Given the description of an element on the screen output the (x, y) to click on. 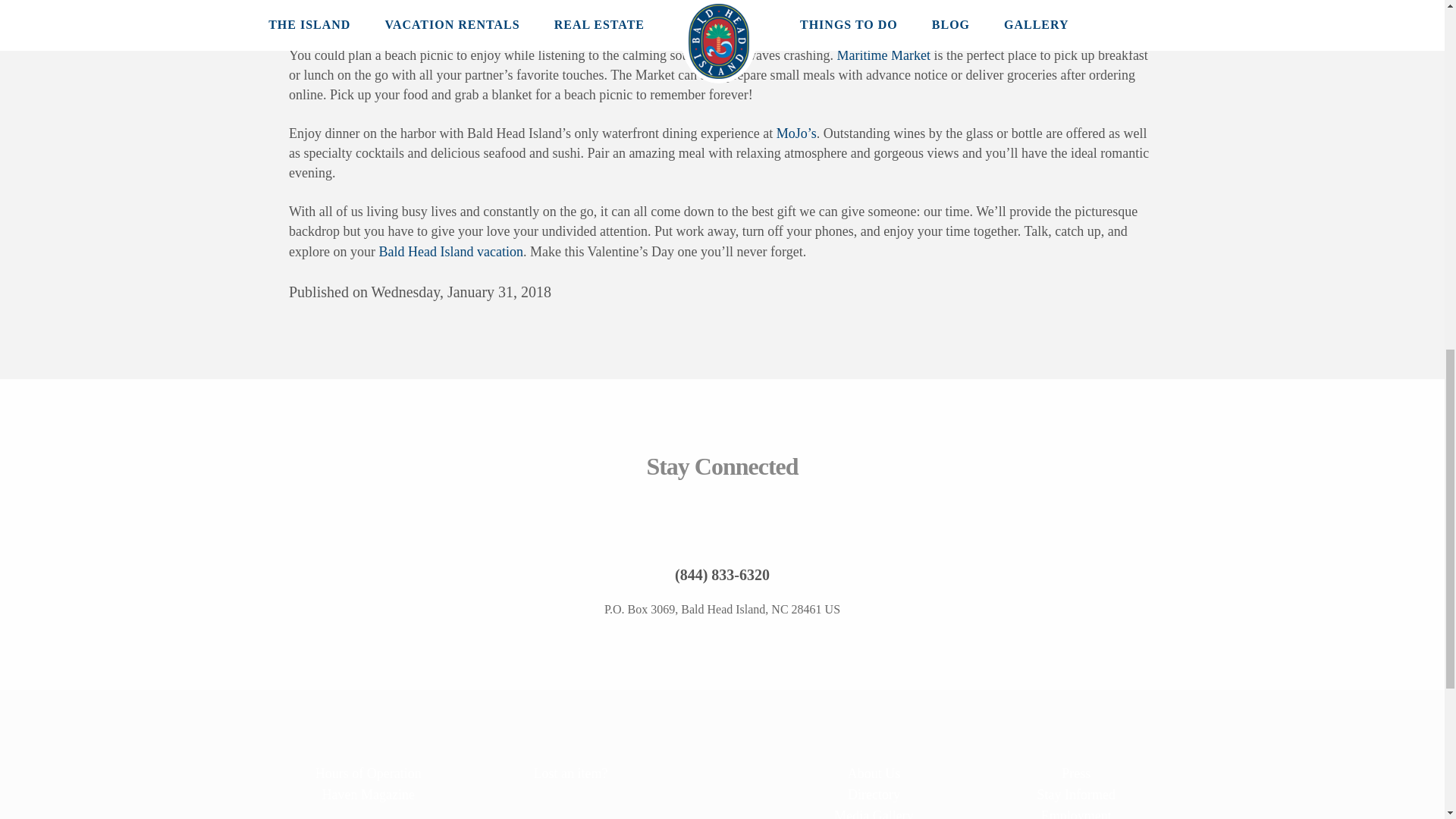
Haven Magazine (367, 794)
Directory (874, 794)
Instagram (721, 520)
Press (1076, 772)
Stay Informed (1076, 794)
Facebook (670, 520)
Bald Head Island vacation (450, 251)
Media Gallery (874, 812)
Lost an item? (569, 772)
Employment (1076, 812)
